Given the description of an element on the screen output the (x, y) to click on. 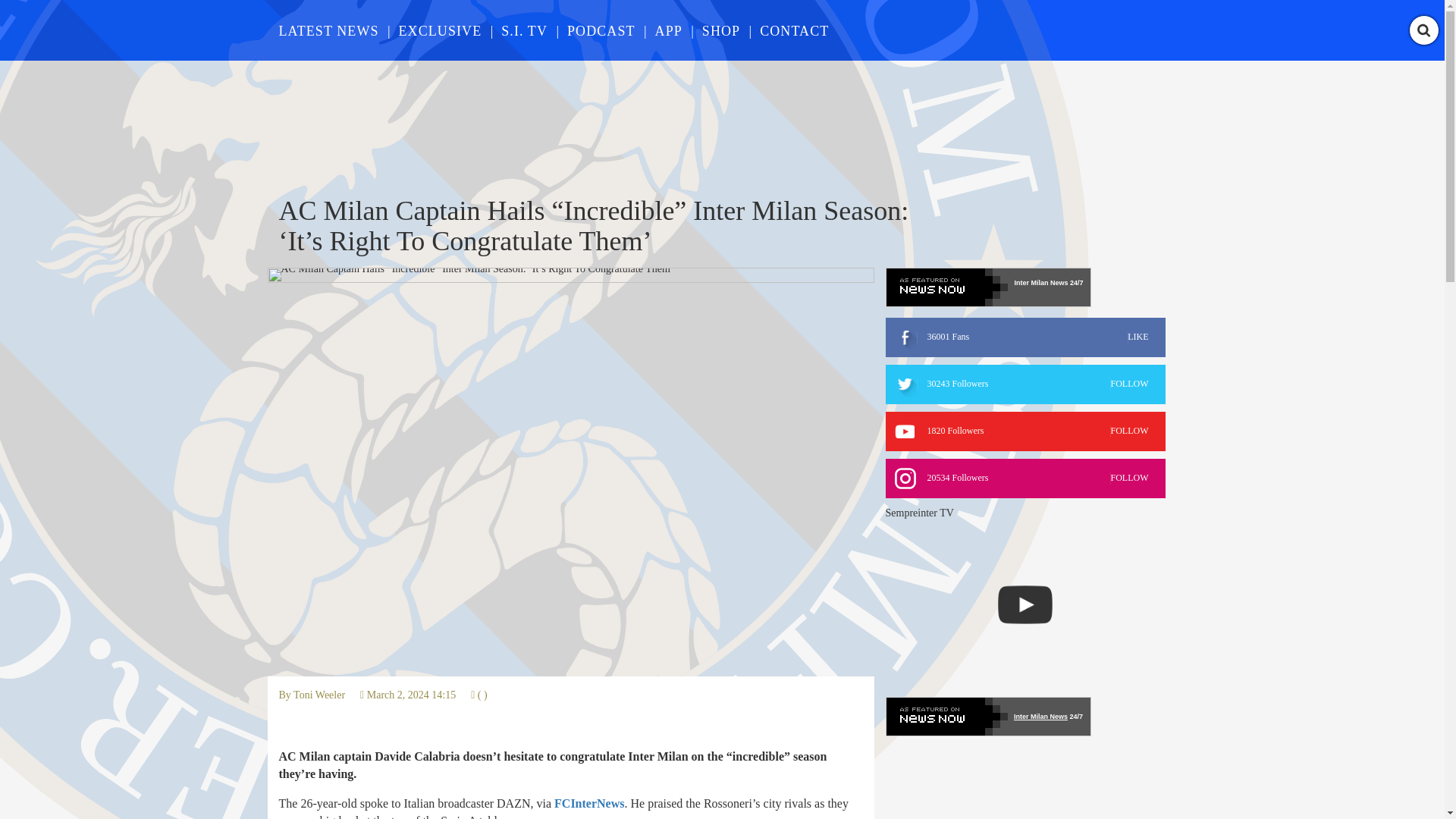
Inter Milan News (1040, 282)
SHOP (720, 30)
APP (668, 30)
LATEST NEWS (328, 30)
Click here for more Inter Milan News from NewsNow (987, 716)
PODCAST (600, 30)
S.I. TV (523, 30)
View more articles by Toni Weeler (1025, 431)
Inter Milan News (319, 695)
Click here for more Inter Milan News from NewsNow (1025, 337)
EXCLUSIVE (1025, 384)
